Given the description of an element on the screen output the (x, y) to click on. 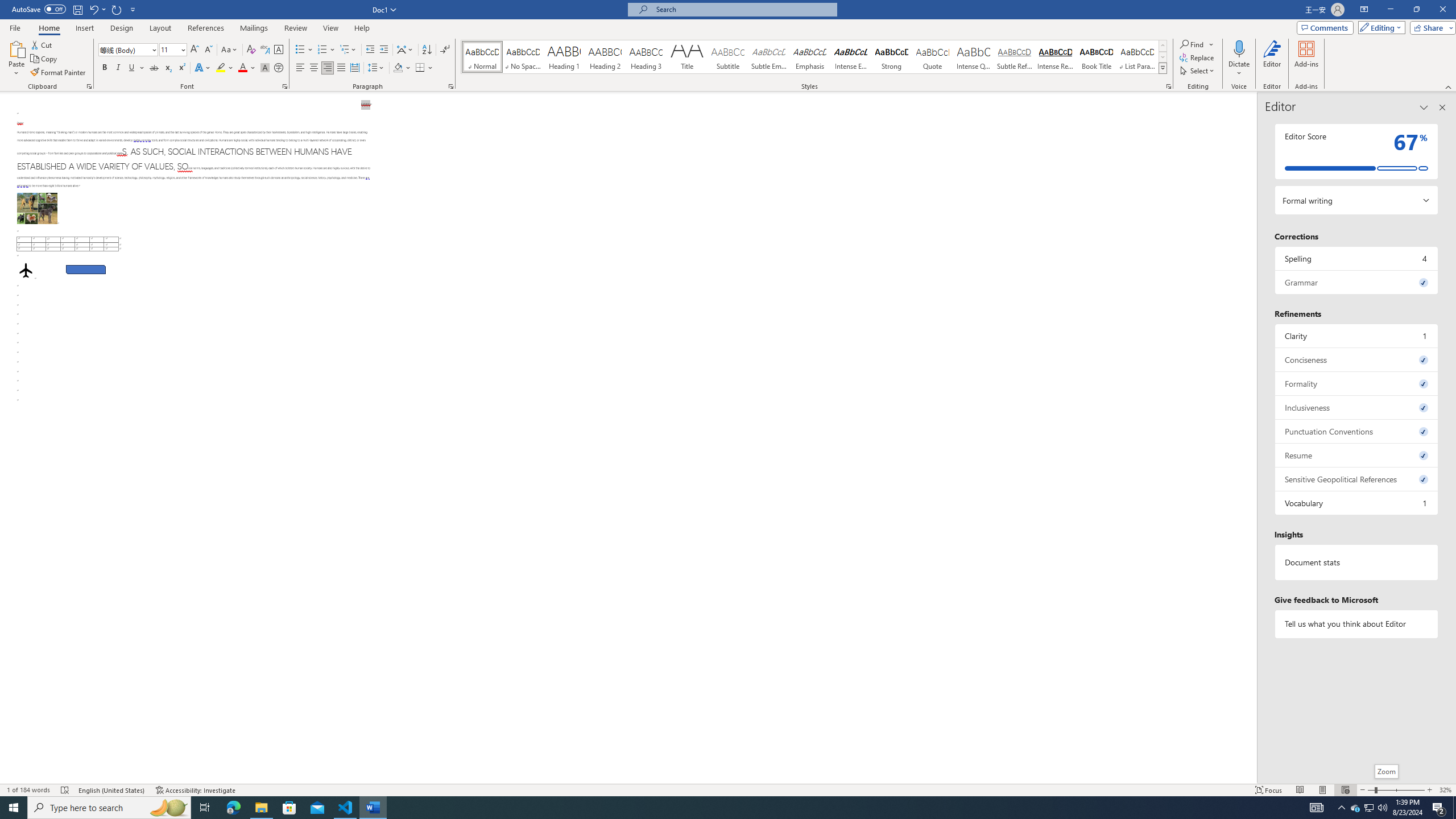
Tell us what you think about Editor (1356, 624)
Intense Reference (1055, 56)
Heading 3 (646, 56)
